Given the description of an element on the screen output the (x, y) to click on. 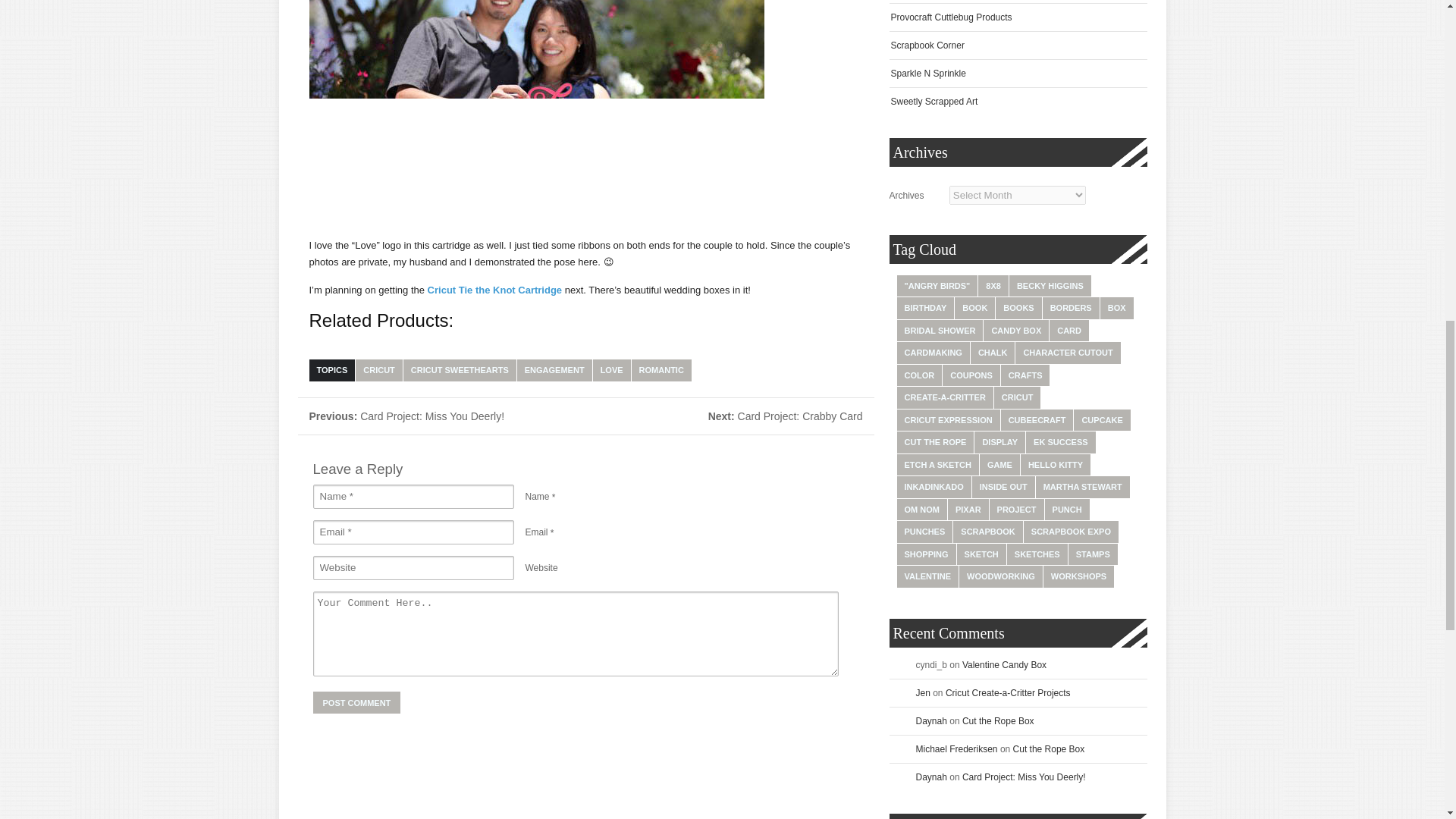
1 topic (1070, 308)
Previous: Card Project: Miss You Deerly! (406, 416)
Post Comment (356, 702)
Next: Card Project: Crabby Card (785, 416)
1 topic (974, 308)
2 topics (993, 285)
CRICUT (379, 370)
Love (536, 113)
ROMANTIC (661, 370)
ENGAGEMENT (554, 370)
